Given the description of an element on the screen output the (x, y) to click on. 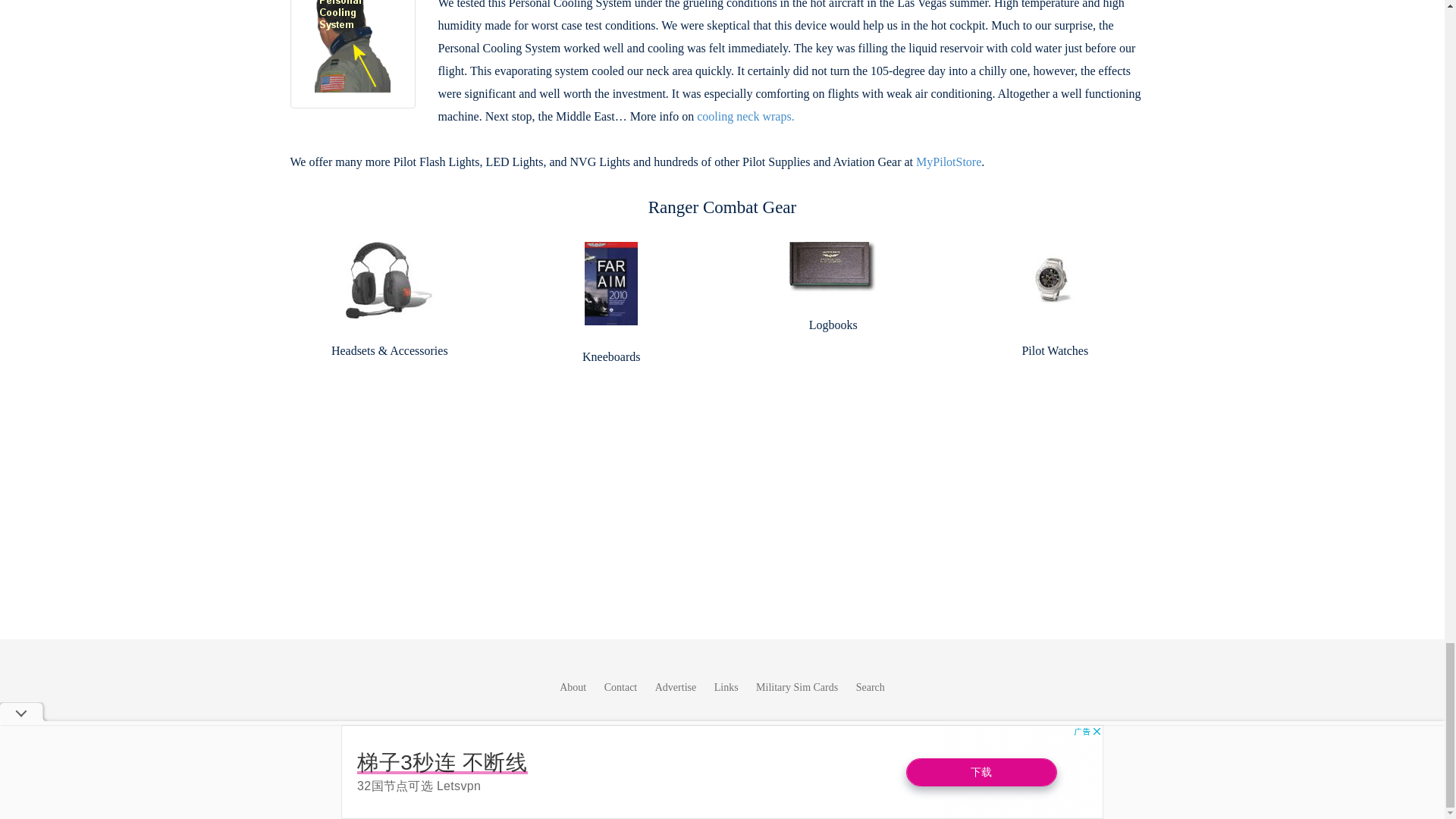
MyPilotStore (948, 161)
cooling neck wraps. (745, 115)
Terms of Use (384, 767)
Advertise (675, 687)
Search (870, 687)
Disclaimer (487, 767)
About (572, 687)
Military Sim Cards (796, 687)
Contact (620, 687)
Contact Us (749, 727)
Privacy (439, 767)
Links (725, 687)
